Given the description of an element on the screen output the (x, y) to click on. 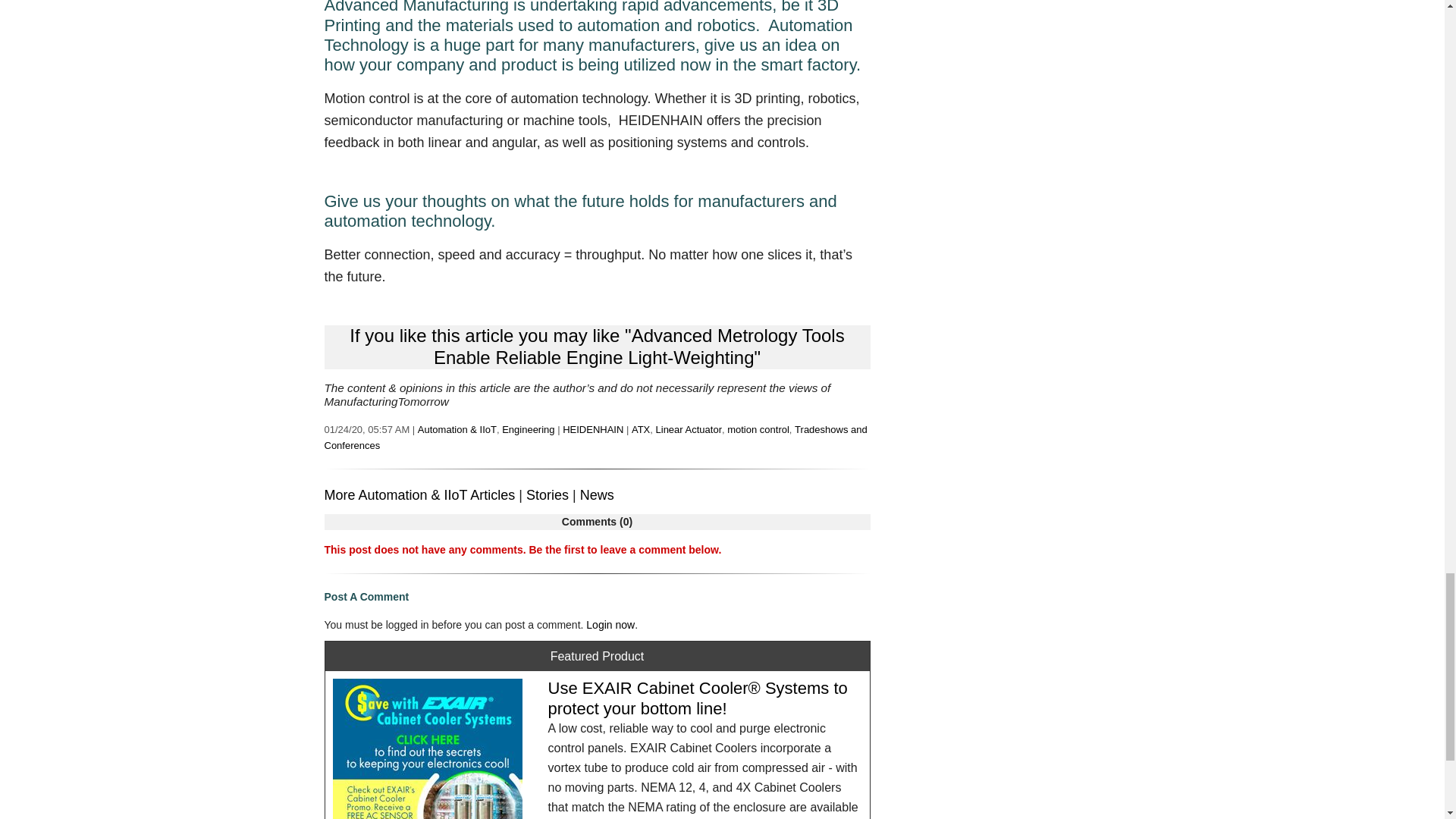
Stories (547, 494)
Engineering (528, 429)
News (596, 494)
HEIDENHAIN (592, 429)
motion control (757, 429)
Linear Actuator (689, 429)
Tradeshows and Conferences (595, 437)
ATX (640, 429)
